Given the description of an element on the screen output the (x, y) to click on. 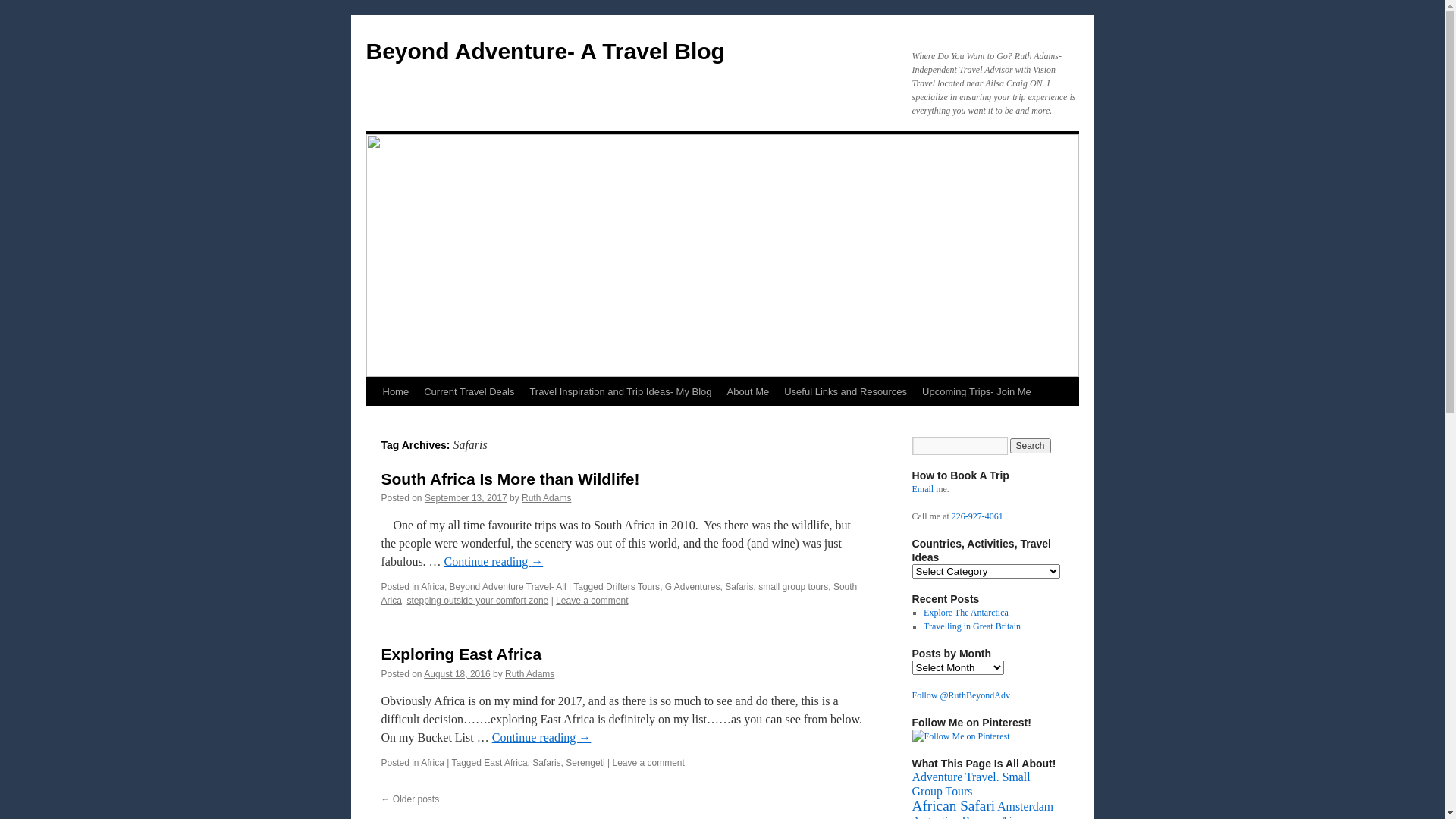
Skip to content Element type: text (372, 419)
Ruth Adams Element type: text (529, 673)
South Africa Is More than Wildlife! Element type: text (509, 478)
226-927-4061 Element type: text (977, 516)
Email Element type: text (922, 488)
Follow @RuthBeyondAdv Element type: text (960, 695)
Useful Links and Resources Element type: text (845, 391)
African Safari Element type: text (952, 805)
Upcoming Trips- Join Me Element type: text (976, 391)
Beyond Adventure Travel- All Element type: text (507, 586)
Drifters Tours Element type: text (632, 586)
Travel Inspiration and Trip Ideas- My Blog Element type: text (619, 391)
stepping outside your comfort zone Element type: text (478, 600)
small group tours Element type: text (793, 586)
Home Element type: text (395, 391)
Explore The Antarctica Element type: text (965, 612)
G Adventures Element type: text (692, 586)
Search Element type: text (1030, 445)
Travelling in Great Britain Element type: text (971, 626)
South Arica Element type: text (618, 593)
Safaris Element type: text (738, 586)
Safaris Element type: text (546, 762)
Beyond Adventure- A Travel Blog Element type: text (544, 50)
Ruth Adams Element type: text (546, 497)
Current Travel Deals Element type: text (468, 391)
Leave a comment Element type: text (591, 600)
About Me Element type: text (748, 391)
Africa Element type: text (432, 586)
August 18, 2016 Element type: text (456, 673)
Exploring East Africa Element type: text (460, 653)
East Africa Element type: text (505, 762)
Leave a comment Element type: text (647, 762)
Adventure Travel. Small Group Tours Element type: text (970, 783)
Africa Element type: text (432, 762)
Amsterdam Element type: text (1025, 806)
Serengeti Element type: text (584, 762)
September 13, 2017 Element type: text (465, 497)
